Given the description of an element on the screen output the (x, y) to click on. 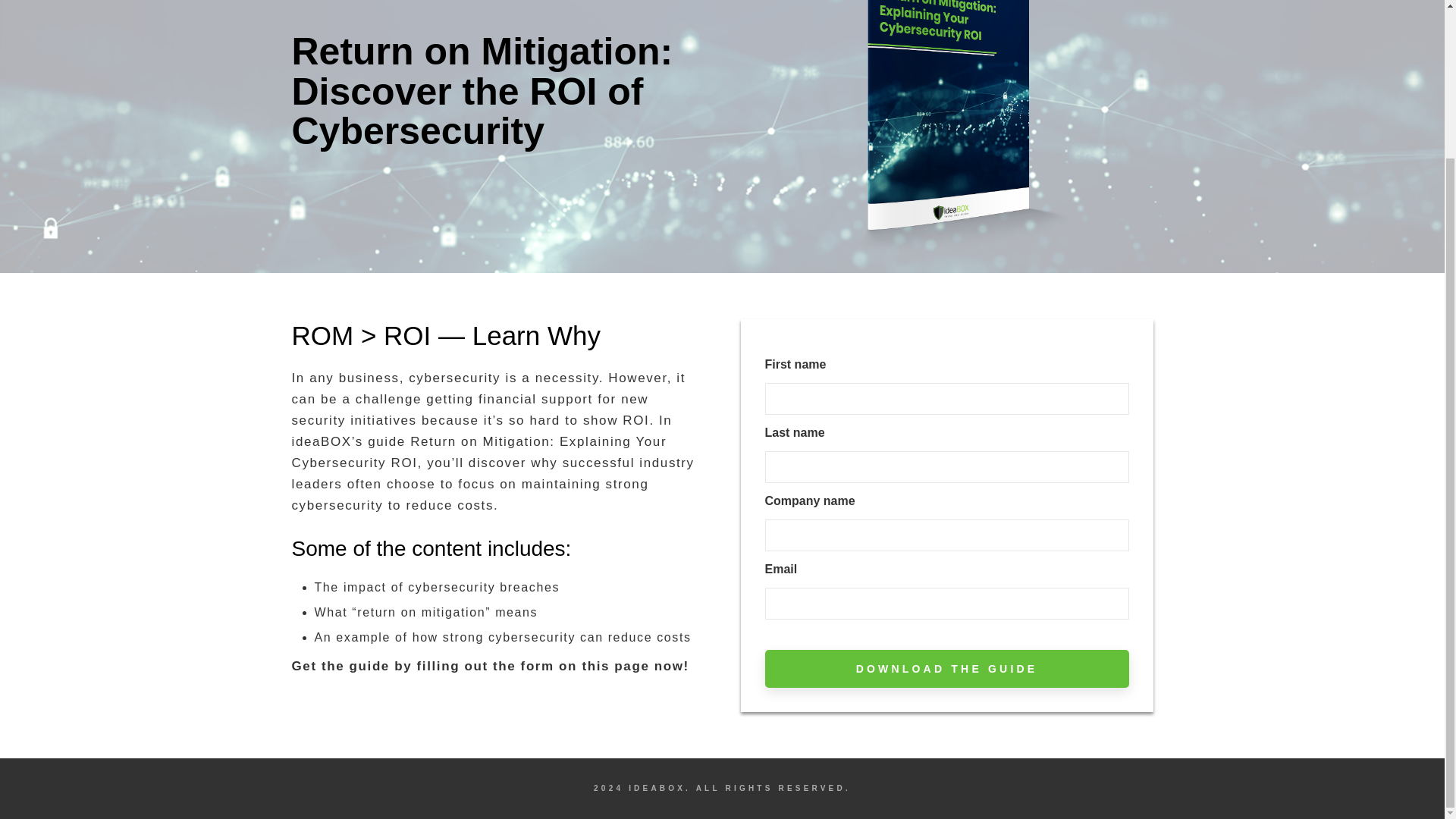
Download the Guide (946, 668)
Download the Guide (946, 668)
